Given the description of an element on the screen output the (x, y) to click on. 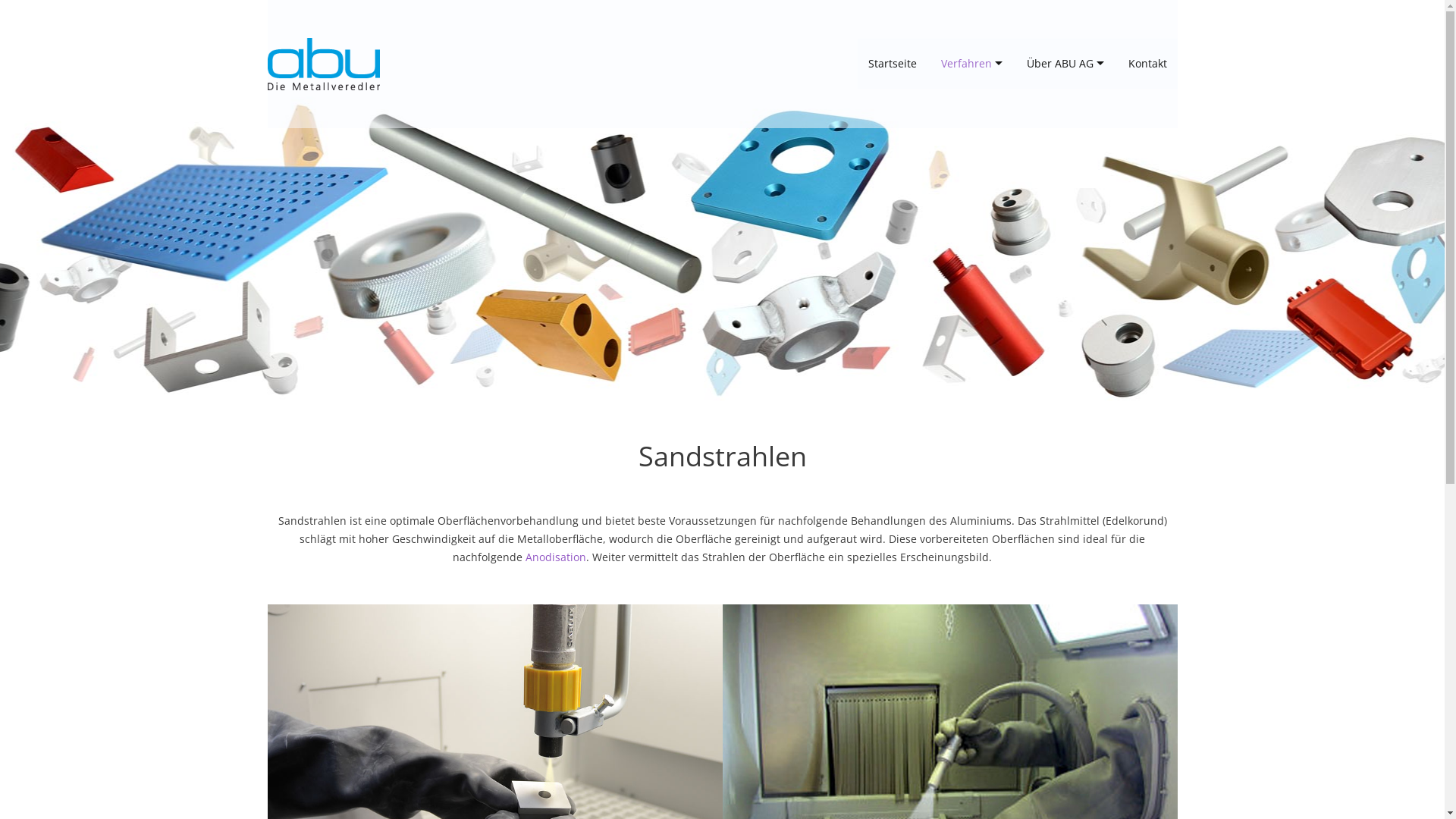
Kontakt Element type: text (1147, 63)
Startseite Element type: text (891, 63)
ABU AG Element type: hover (322, 63)
Anodisation Element type: text (555, 556)
